Given the description of an element on the screen output the (x, y) to click on. 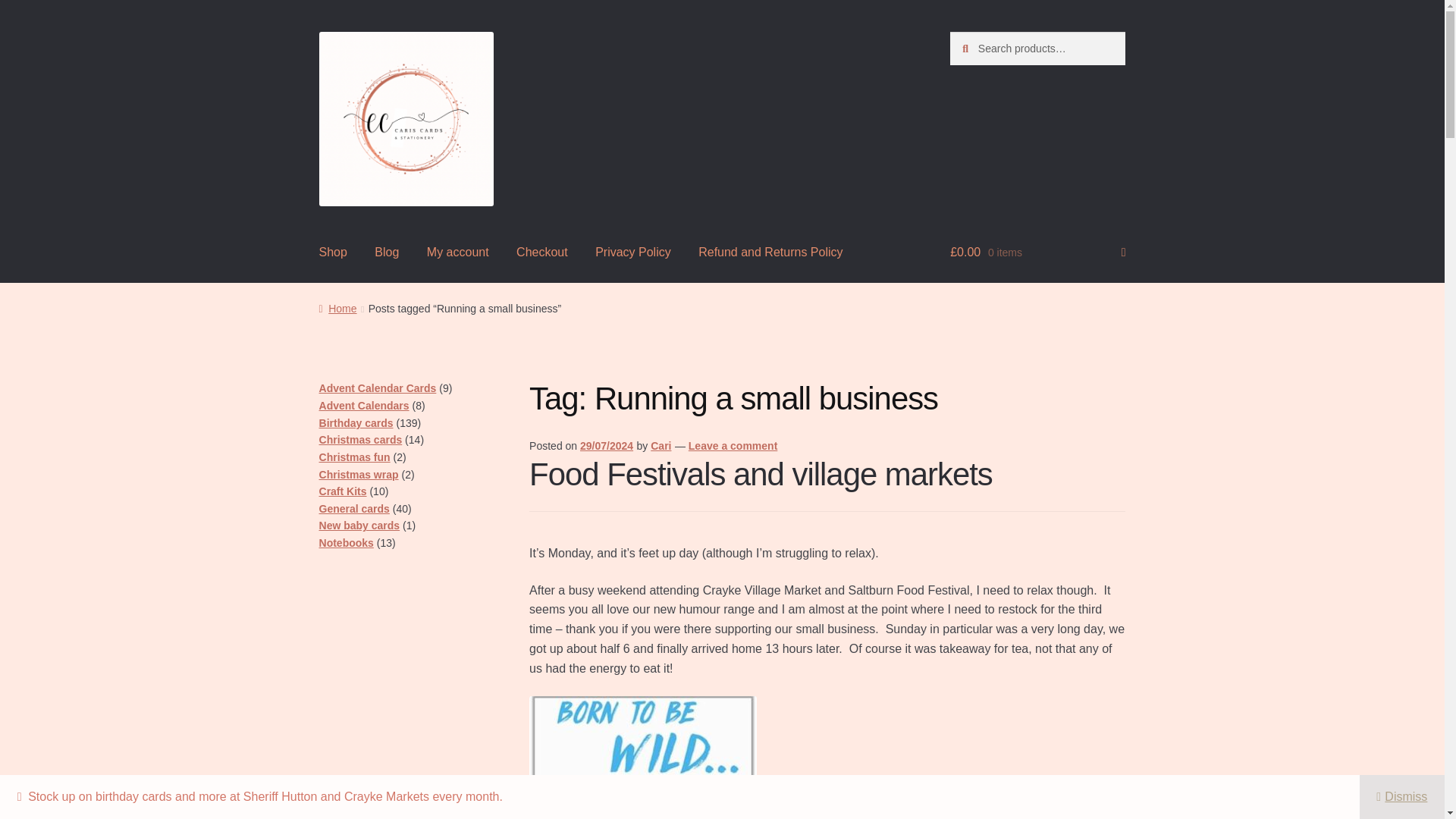
My account (457, 252)
Checkout (541, 252)
Cari (660, 445)
Food Festivals and village markets (760, 474)
Home (337, 308)
Refund and Returns Policy (769, 252)
Privacy Policy (632, 252)
View your shopping basket (1037, 252)
Leave a comment (732, 445)
